Given the description of an element on the screen output the (x, y) to click on. 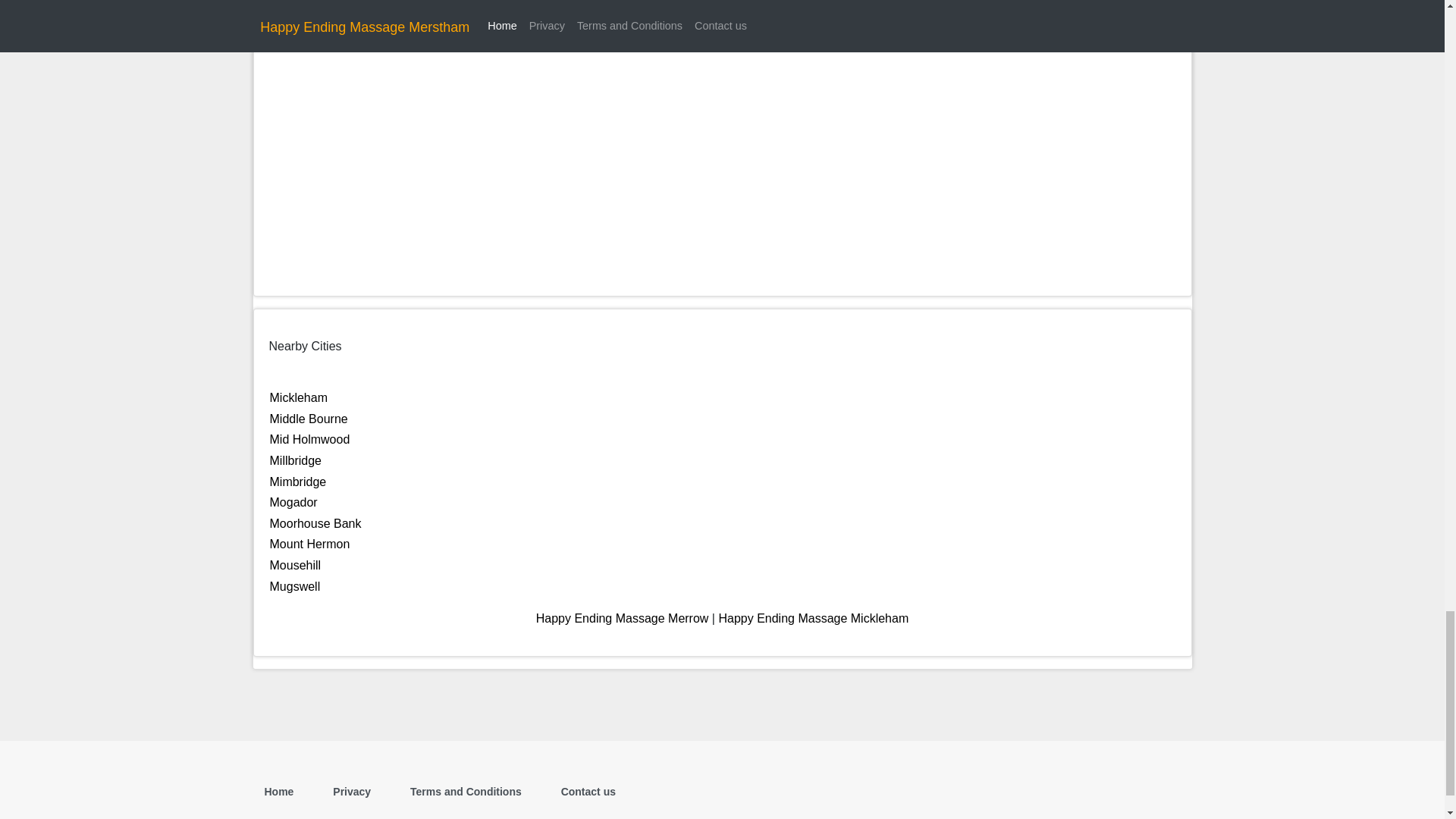
Moorhouse Bank (315, 522)
Happy Ending Massage Merrow (622, 617)
Mickleham (298, 397)
Middle Bourne (308, 418)
Mid Holmwood (309, 439)
Mount Hermon (309, 543)
Happy Ending Massage Mickleham (812, 617)
Mousehill (295, 564)
Millbridge (295, 460)
Mogador (293, 502)
Mimbridge (297, 481)
Mugswell (294, 585)
